Given the description of an element on the screen output the (x, y) to click on. 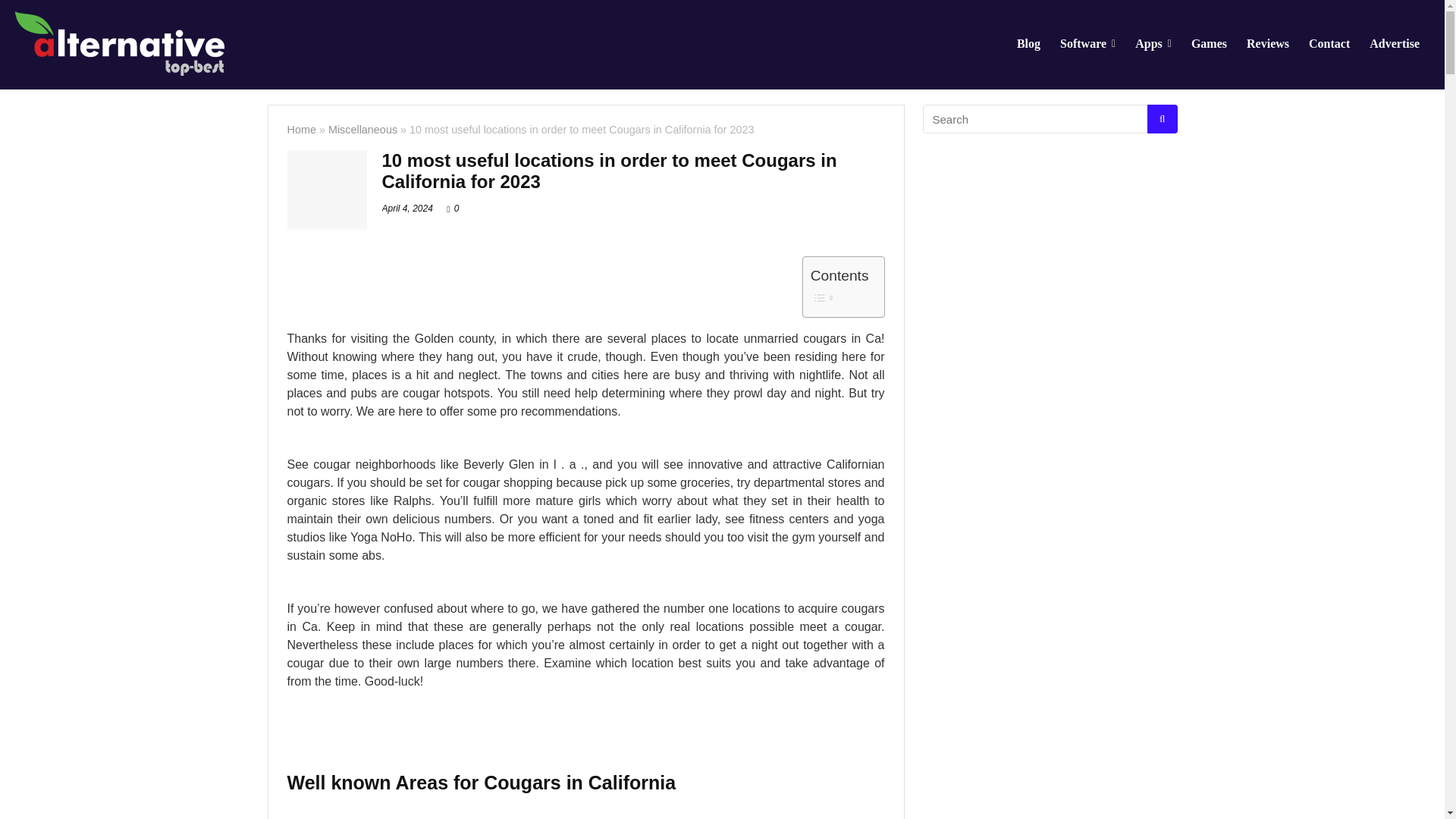
Miscellaneous (363, 129)
Apps (1152, 44)
Blog (1028, 44)
Reviews (1267, 44)
Advertise (1394, 44)
Software (1087, 44)
Home (300, 129)
Games (1208, 44)
Contact (1328, 44)
